Given the description of an element on the screen output the (x, y) to click on. 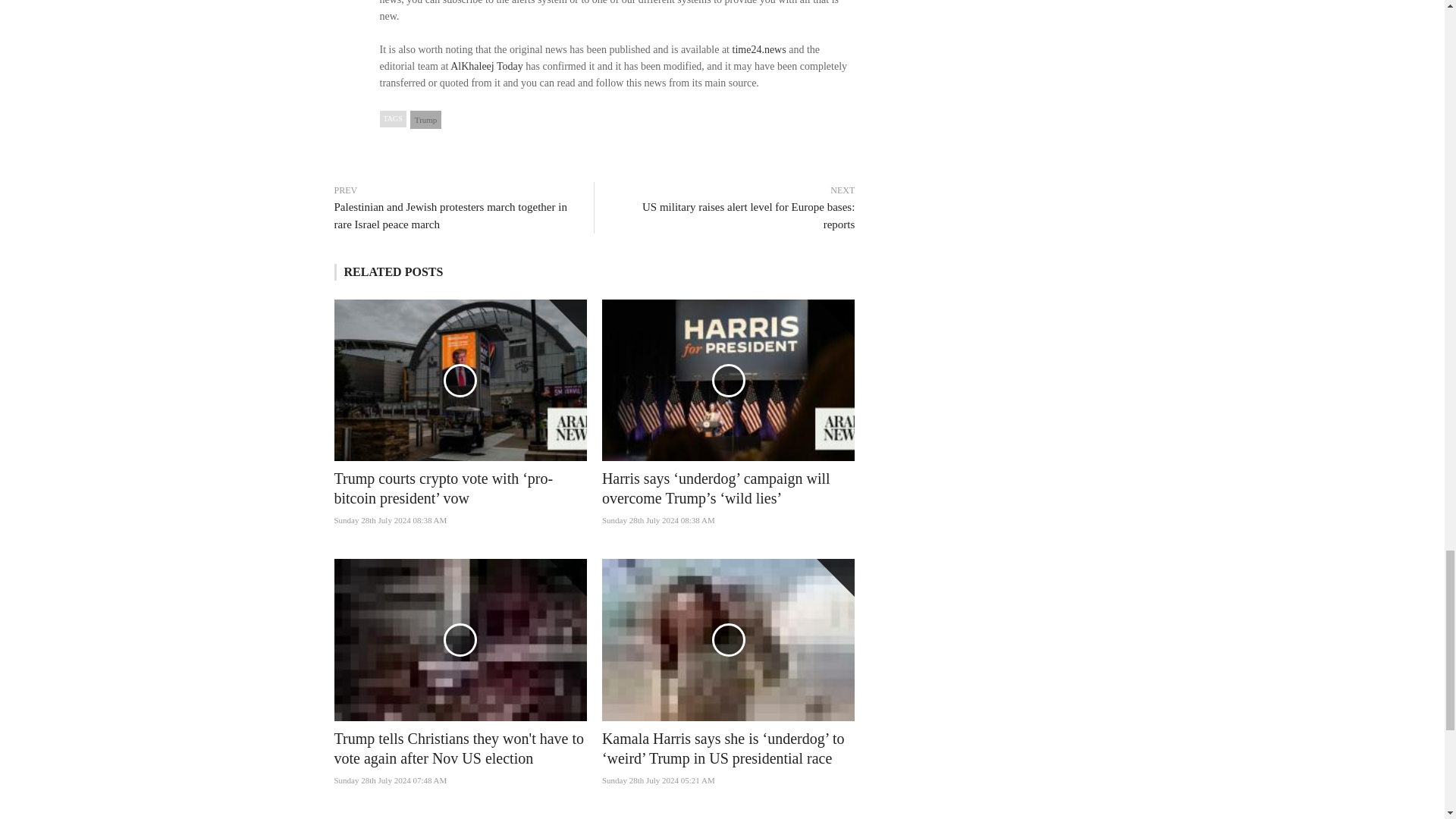
US military raises alert level for Europe bases: reports (732, 216)
Trump (426, 119)
AlKhaleej Today (485, 66)
time24.news (759, 49)
